Given the description of an element on the screen output the (x, y) to click on. 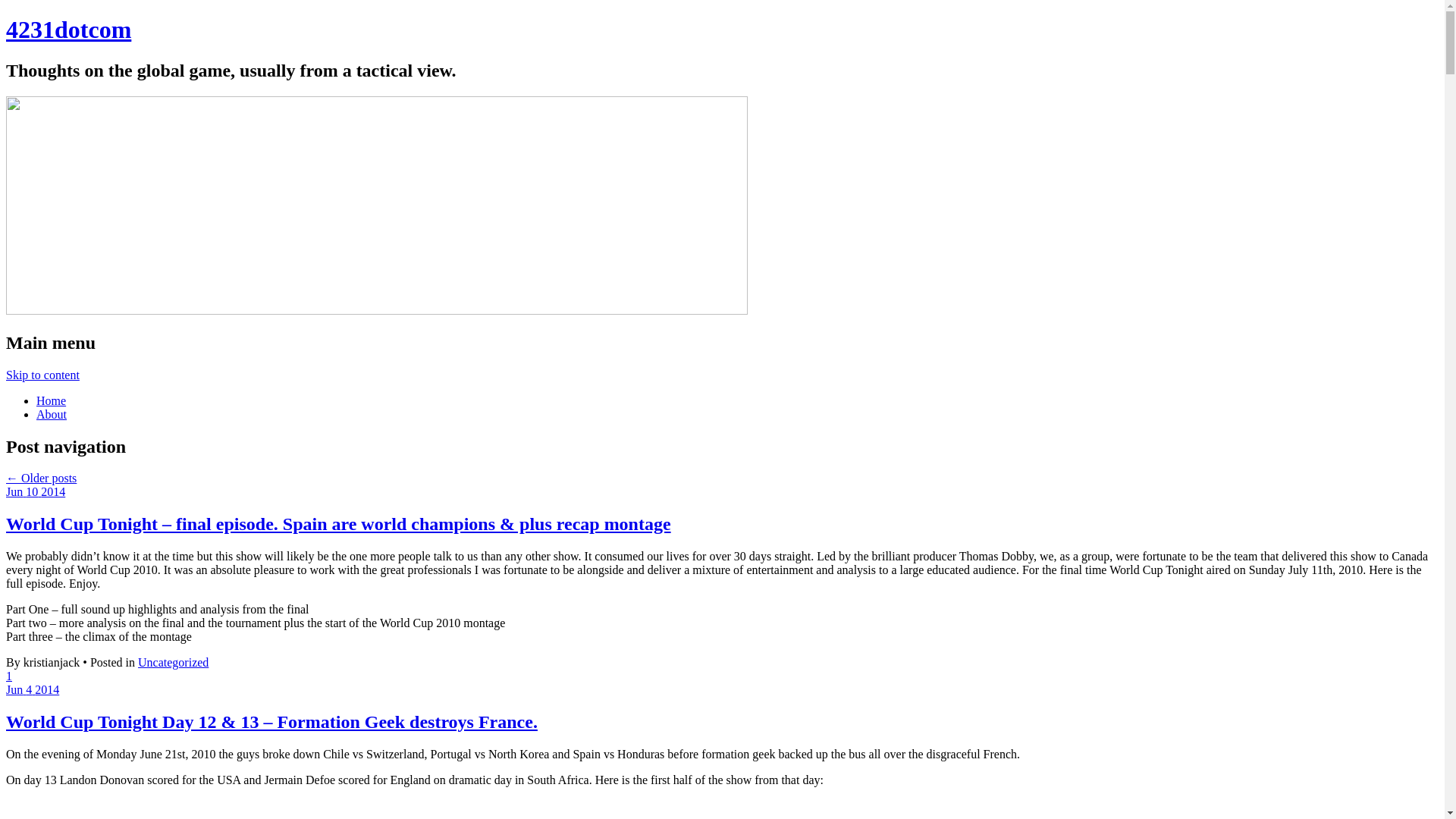
Uncategorized Element type: text (173, 661)
Skip to content Element type: text (42, 374)
Jun 10 2014 Element type: text (35, 491)
Jun 4 2014 Element type: text (32, 689)
1 Element type: text (9, 675)
About Element type: text (51, 413)
4231dotcom Element type: text (68, 29)
Home Element type: text (50, 400)
